Given the description of an element on the screen output the (x, y) to click on. 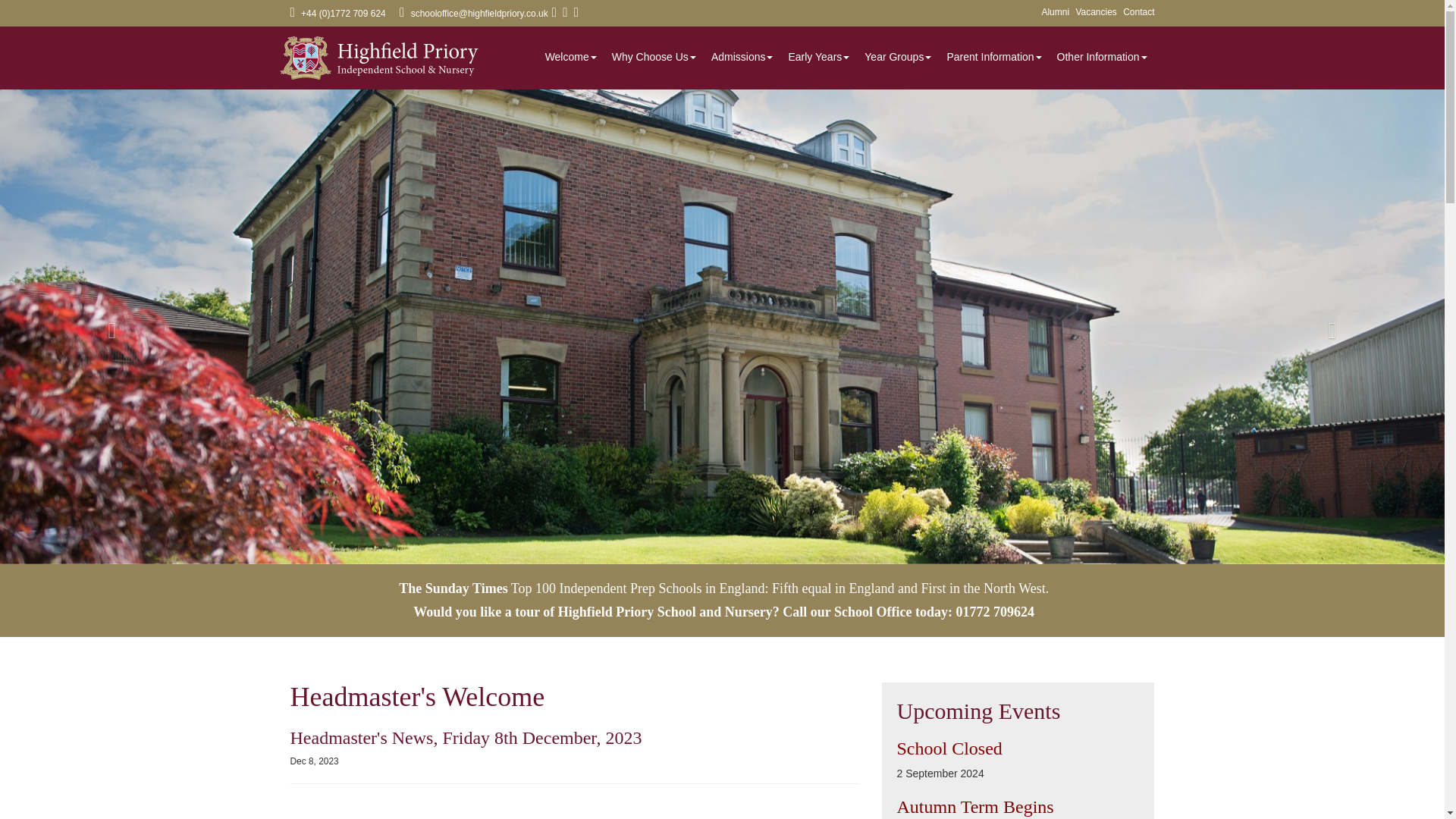
Welcome (570, 56)
Contact (1138, 11)
Contact (1138, 11)
Year Groups (898, 56)
Alumni (1054, 11)
Vacancies (1095, 11)
Vacancies (1095, 11)
Admissions (741, 56)
Alumni (1054, 11)
Early Years (818, 56)
